Given the description of an element on the screen output the (x, y) to click on. 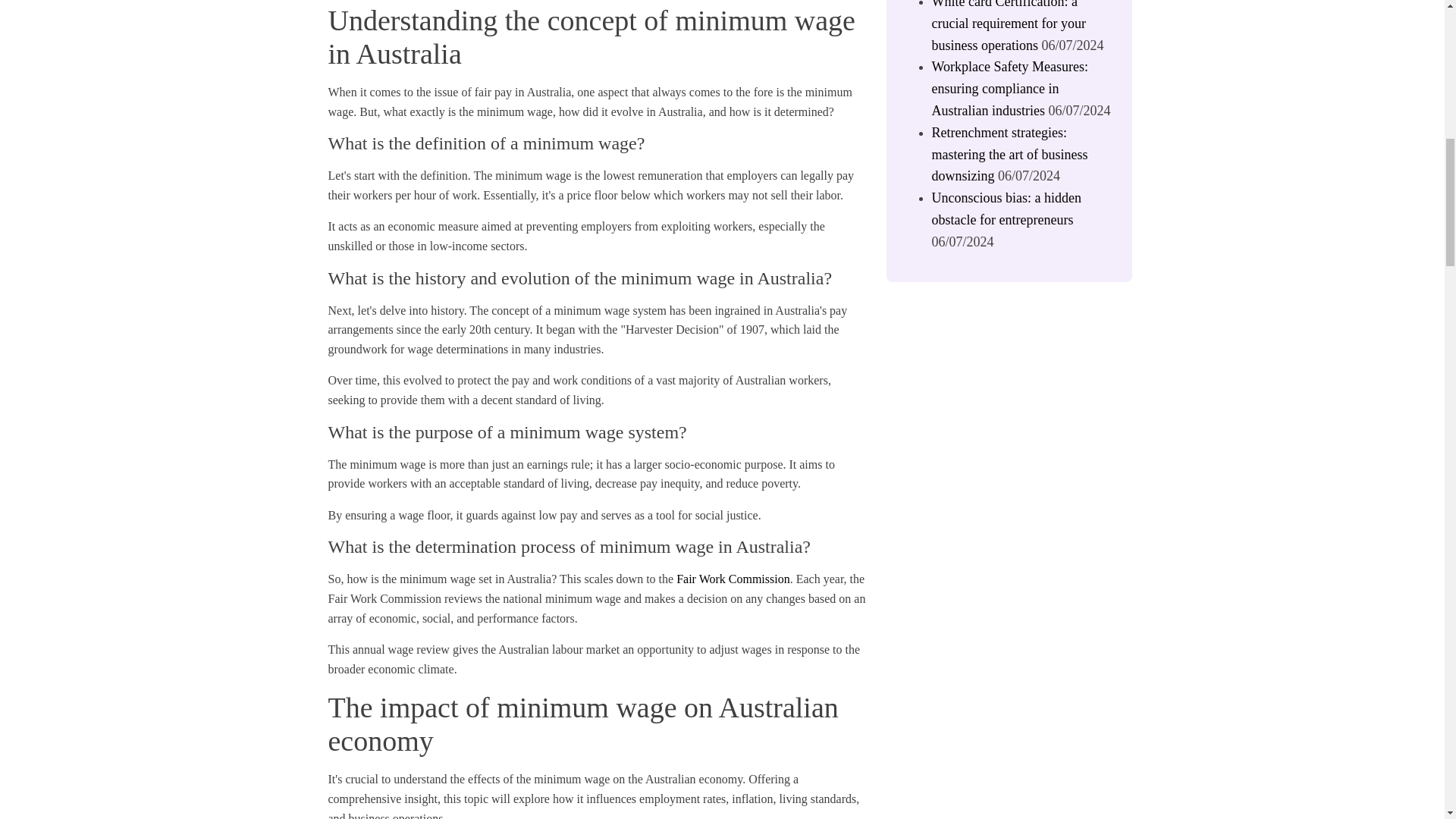
Fair Work Commission (733, 578)
Unconscious bias: a hidden obstacle for entrepreneurs (1005, 208)
